Given the description of an element on the screen output the (x, y) to click on. 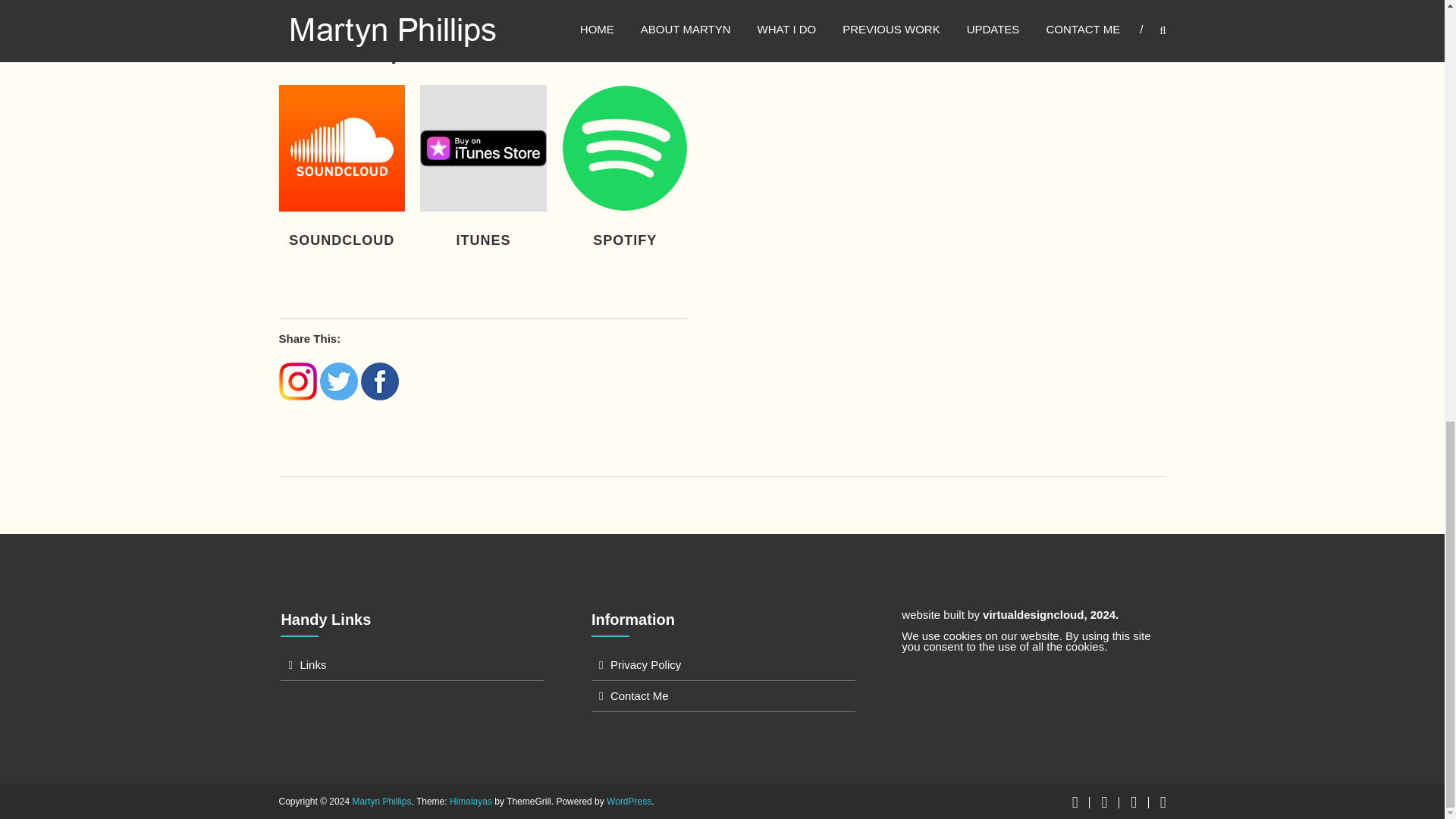
Himalayas (470, 801)
Contact Me (639, 695)
WordPress (628, 801)
Himalayas (470, 801)
ITUNES (483, 240)
WordPress (628, 801)
SPOTIFY (625, 240)
Links (312, 664)
Privacy Policy (645, 664)
Martyn Phillips (381, 801)
SOUNDCLOUD (342, 240)
Martyn Phillips (381, 801)
